Given the description of an element on the screen output the (x, y) to click on. 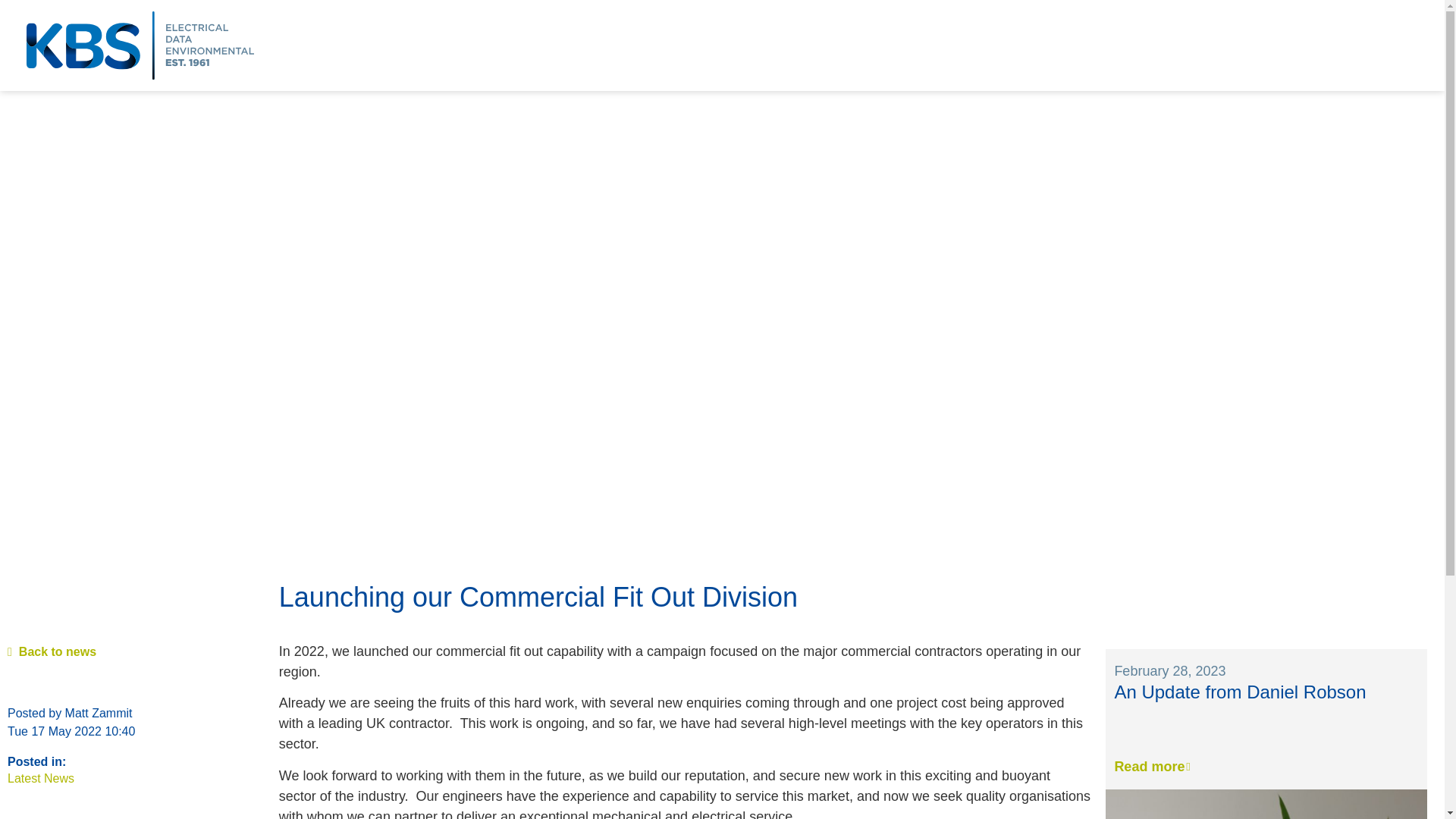
SERVICES (1048, 45)
Tue 17 May 2022 10:40 (71, 731)
OUR PORTFOLIO (1144, 45)
CONTACT (1399, 45)
Posted by Matt Zammit (69, 713)
JOIN THE TEAM (1256, 45)
Back to news (51, 652)
Latest News (40, 778)
NEWS (1336, 45)
ABOUT US (970, 45)
